Given the description of an element on the screen output the (x, y) to click on. 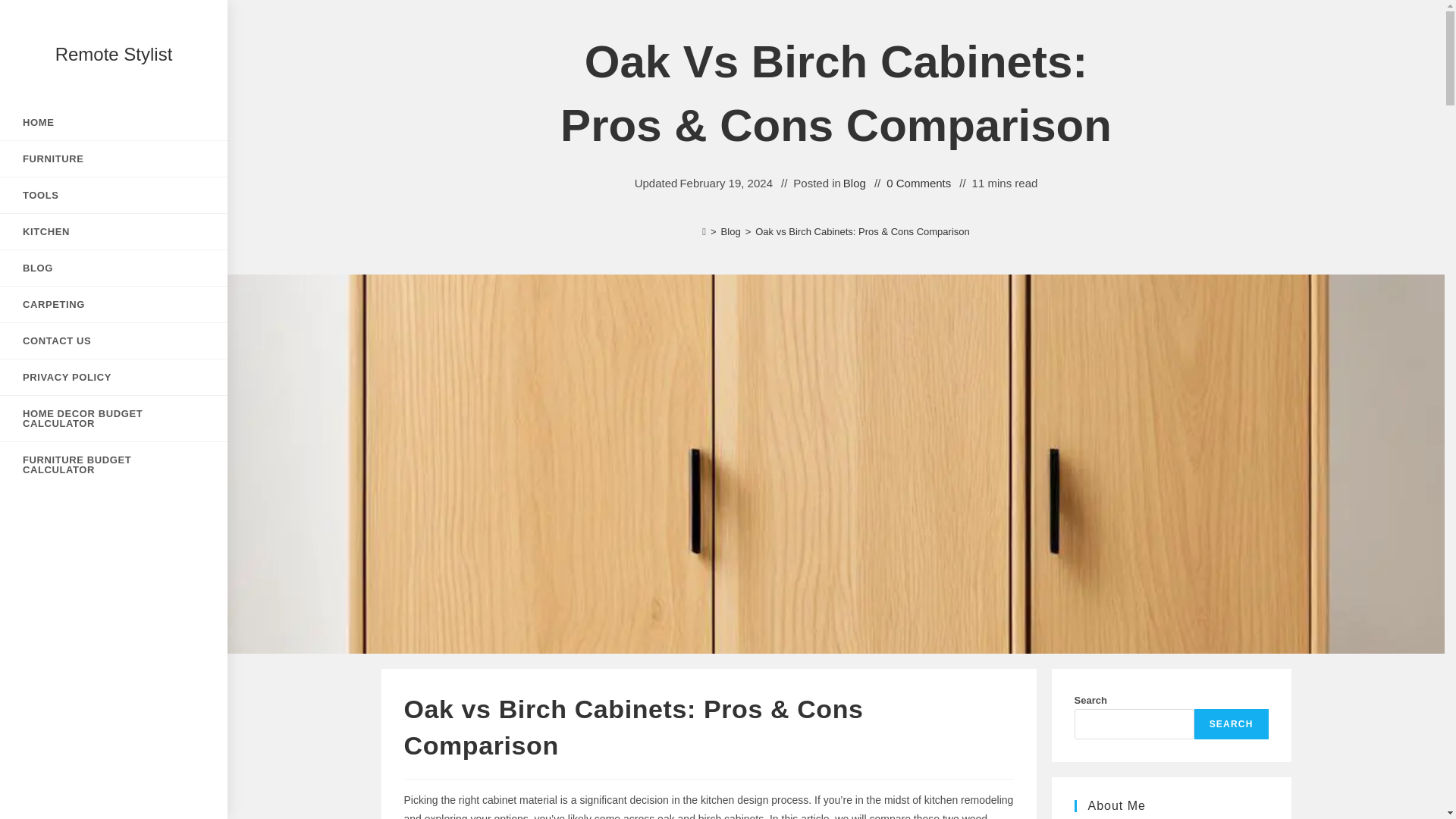
CARPETING (113, 304)
BLOG (113, 267)
TOOLS (113, 194)
Remote Stylist (114, 54)
HOME DECOR BUDGET CALCULATOR (113, 418)
KITCHEN (113, 231)
HOME (113, 122)
FURNITURE (113, 158)
FURNITURE BUDGET CALCULATOR (113, 464)
